Given the description of an element on the screen output the (x, y) to click on. 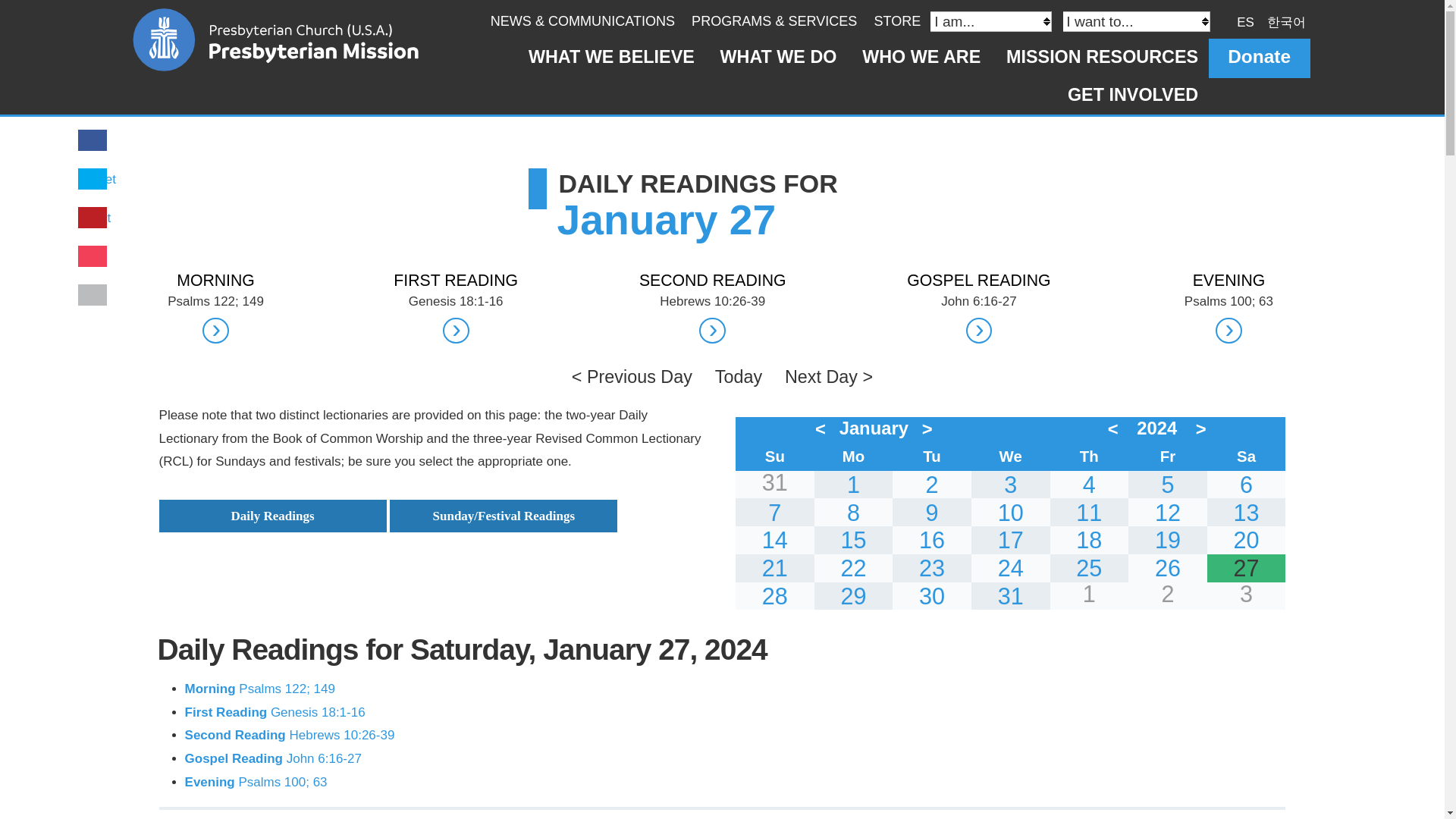
Share on Facebook (92, 140)
Share on Twitter (98, 178)
Last Year (1115, 428)
STORE (896, 20)
ES (1245, 22)
Pin It (96, 217)
